Given the description of an element on the screen output the (x, y) to click on. 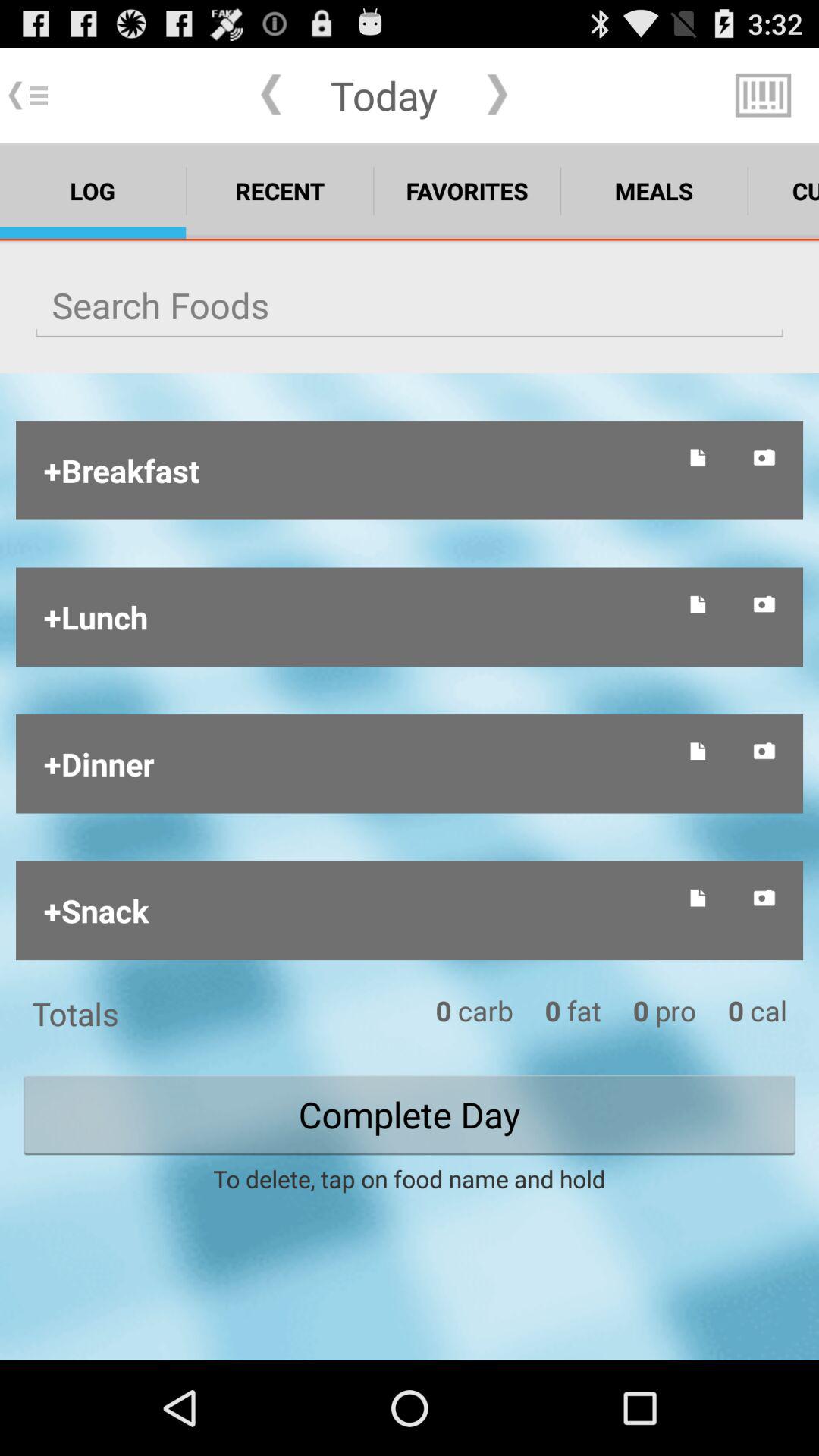
select the dinner option (354, 763)
click on the text complete day (409, 1114)
select the text which is above the text totals (354, 910)
select the icon which is after breakfast (698, 457)
click on recent which is in between log and favorites (280, 190)
click on the back arrow which is left to today (270, 95)
